Given the description of an element on the screen output the (x, y) to click on. 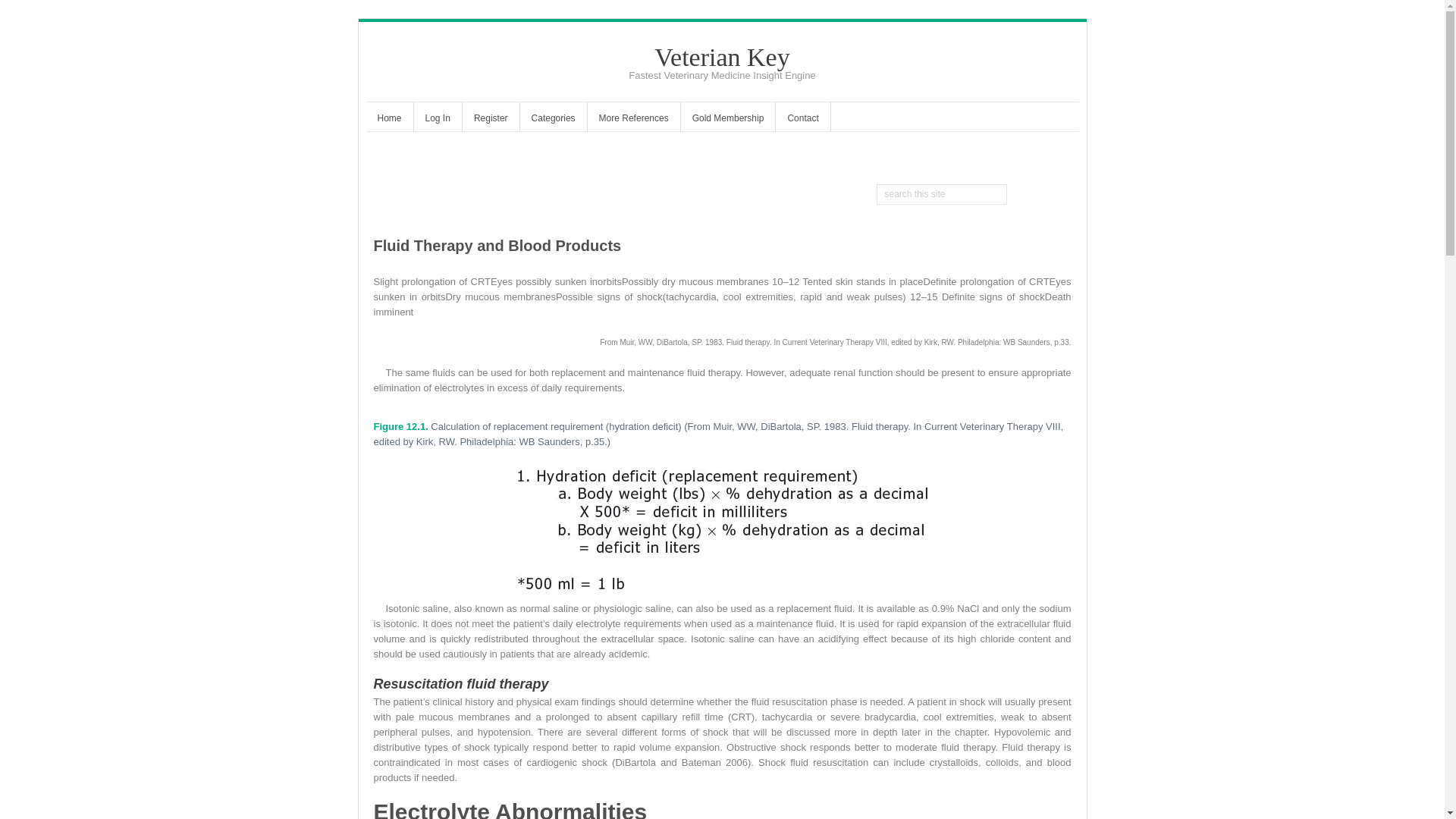
Veterian Key (721, 57)
Categories (552, 119)
Veterian Key (721, 57)
Contact (802, 119)
Figure 12.1. (400, 426)
Log In (437, 119)
Home (388, 119)
More References (633, 119)
Gold Membership (728, 119)
Register (491, 119)
